Given the description of an element on the screen output the (x, y) to click on. 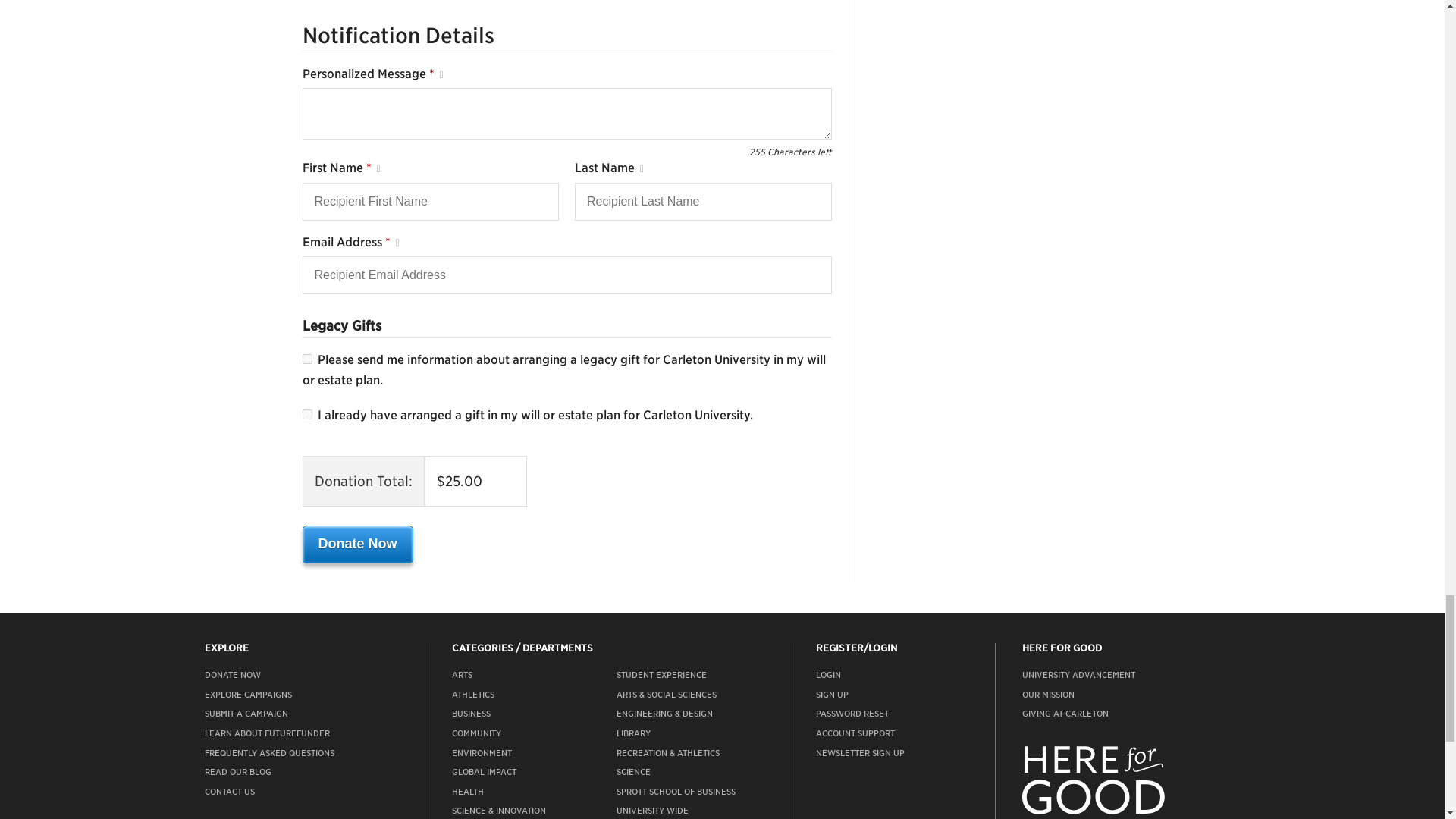
Donate Now (356, 544)
STUDENT EXPERIENCE (660, 674)
HEALTH (467, 791)
FREQUENTLY ASKED QUESTIONS (269, 752)
DONATE NOW (232, 674)
BUSINESS (470, 713)
GLOBAL IMPACT (483, 771)
CONTACT US (229, 791)
ATHLETICS (473, 694)
COMMUNITY (475, 733)
SUBMIT A CAMPAIGN (246, 713)
ARTS (461, 674)
EXPLORE CAMPAIGNS (248, 694)
READ OUR BLOG (237, 771)
ENVIRONMENT (481, 752)
